Given the description of an element on the screen output the (x, y) to click on. 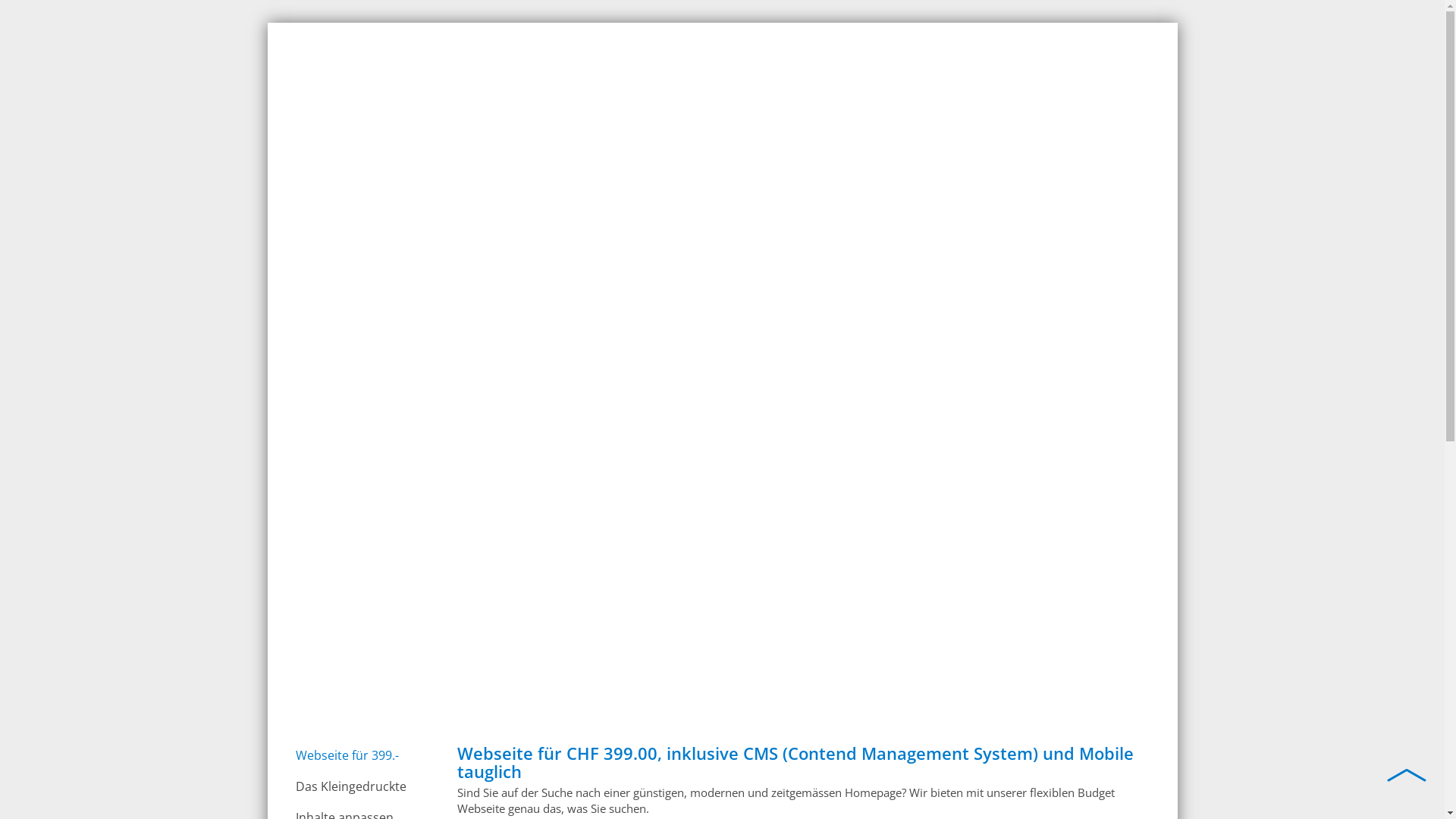
Das Kleingedruckte Element type: text (362, 786)
